Given the description of an element on the screen output the (x, y) to click on. 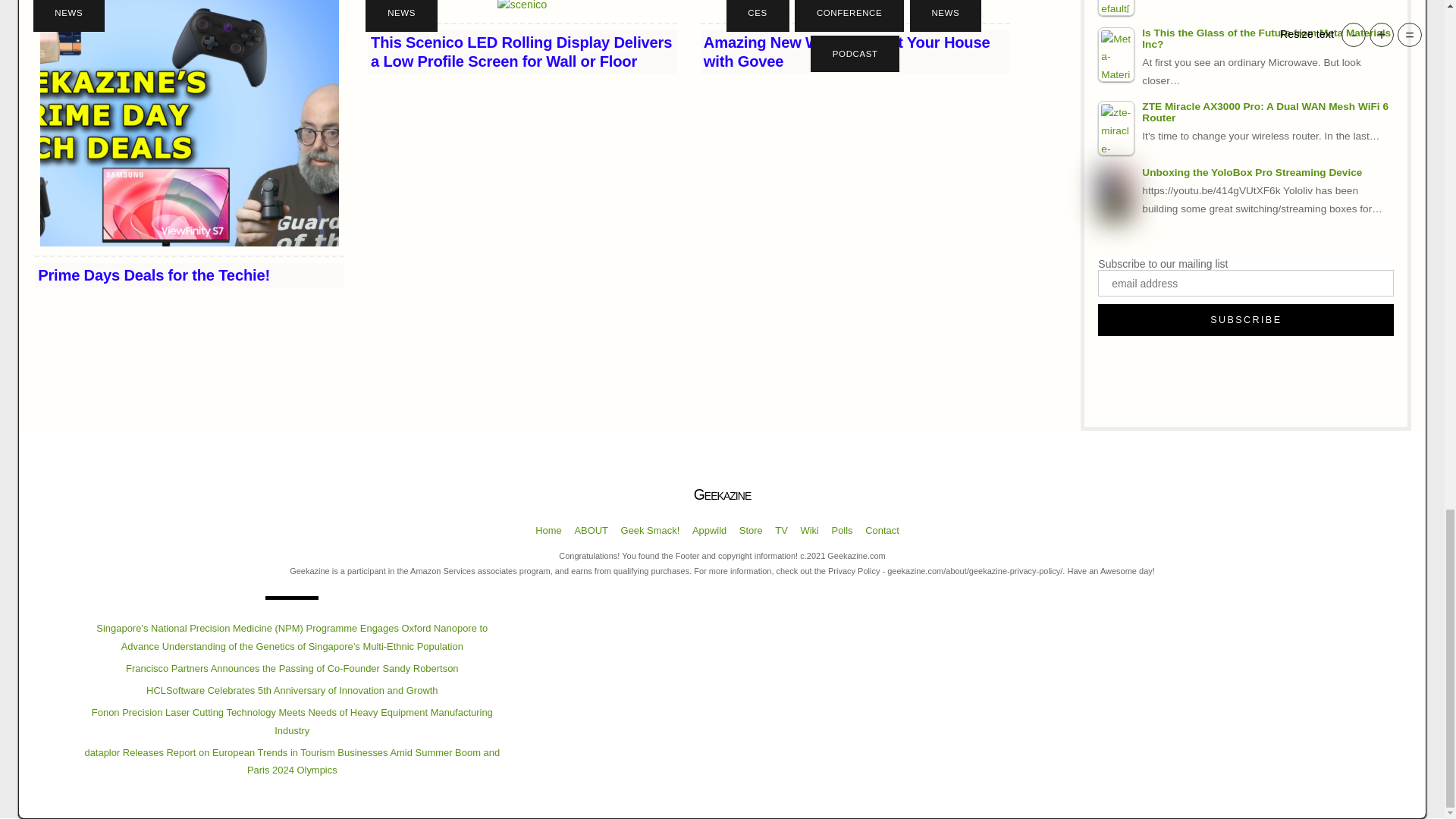
Subscribe (1245, 319)
scenico (522, 7)
PDTD24 (189, 123)
govee (855, 7)
HiDock H1 is an AI Powered USB Audio Dock using ChatGPT (1115, 7)
